Given the description of an element on the screen output the (x, y) to click on. 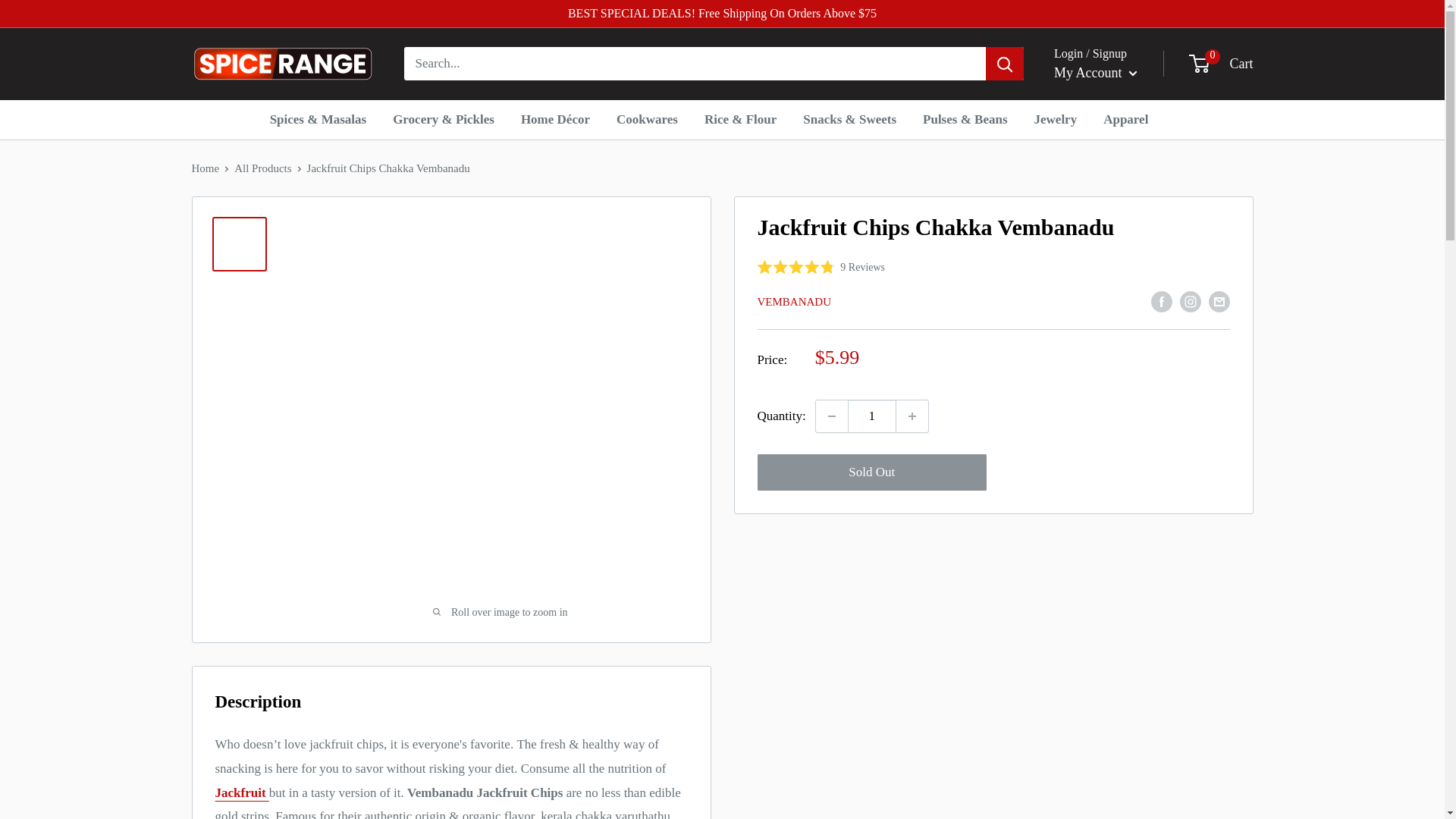
My Account (1095, 73)
Decrease quantity by 1 (831, 416)
Spice Range (281, 64)
Increase quantity by 1 (912, 416)
1 (871, 416)
Cookwares (646, 119)
